Given the description of an element on the screen output the (x, y) to click on. 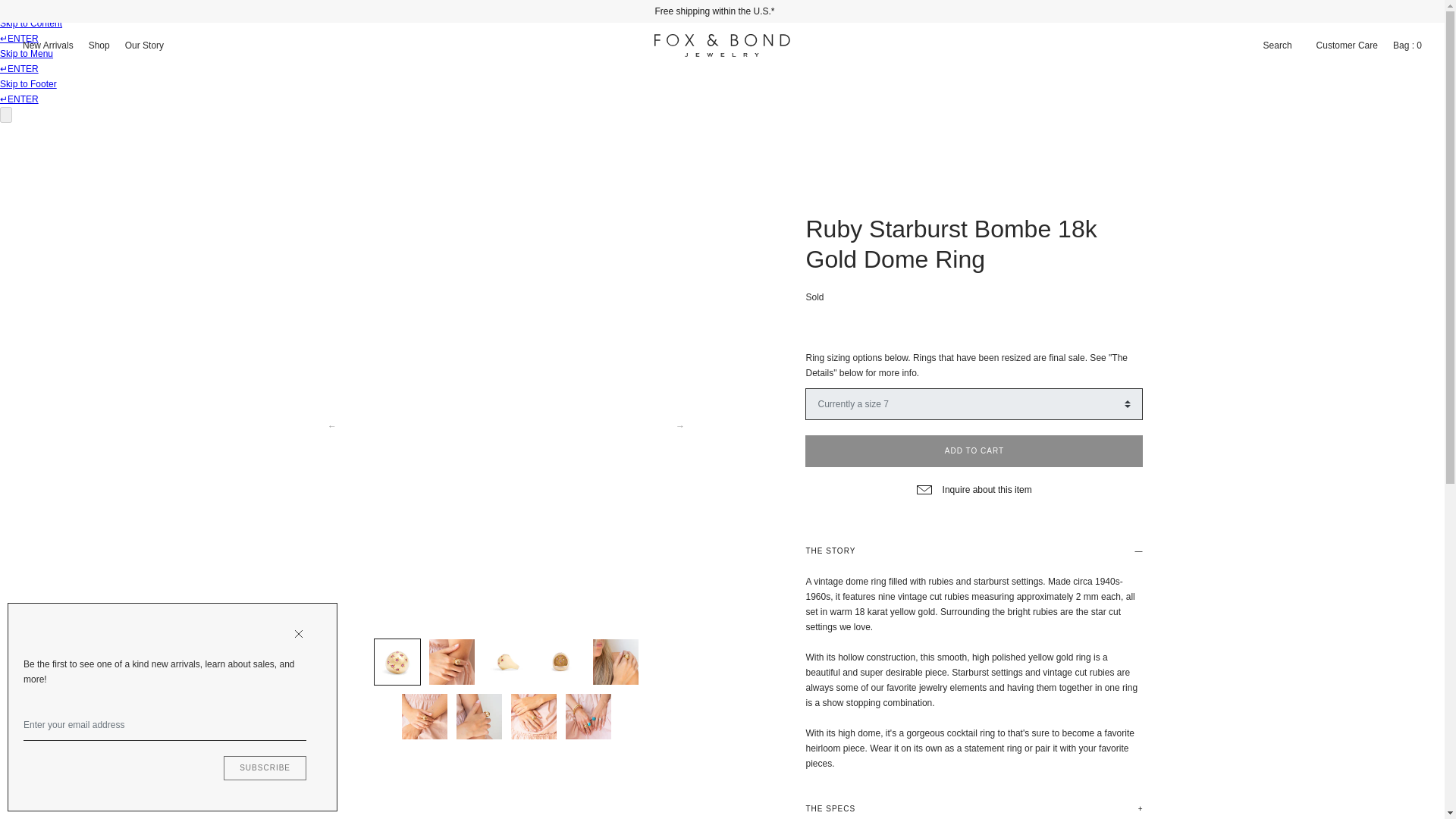
Our Story (144, 44)
Customer Care (1347, 44)
Bag : 0 (1407, 44)
New Arrivals (47, 44)
